Given the description of an element on the screen output the (x, y) to click on. 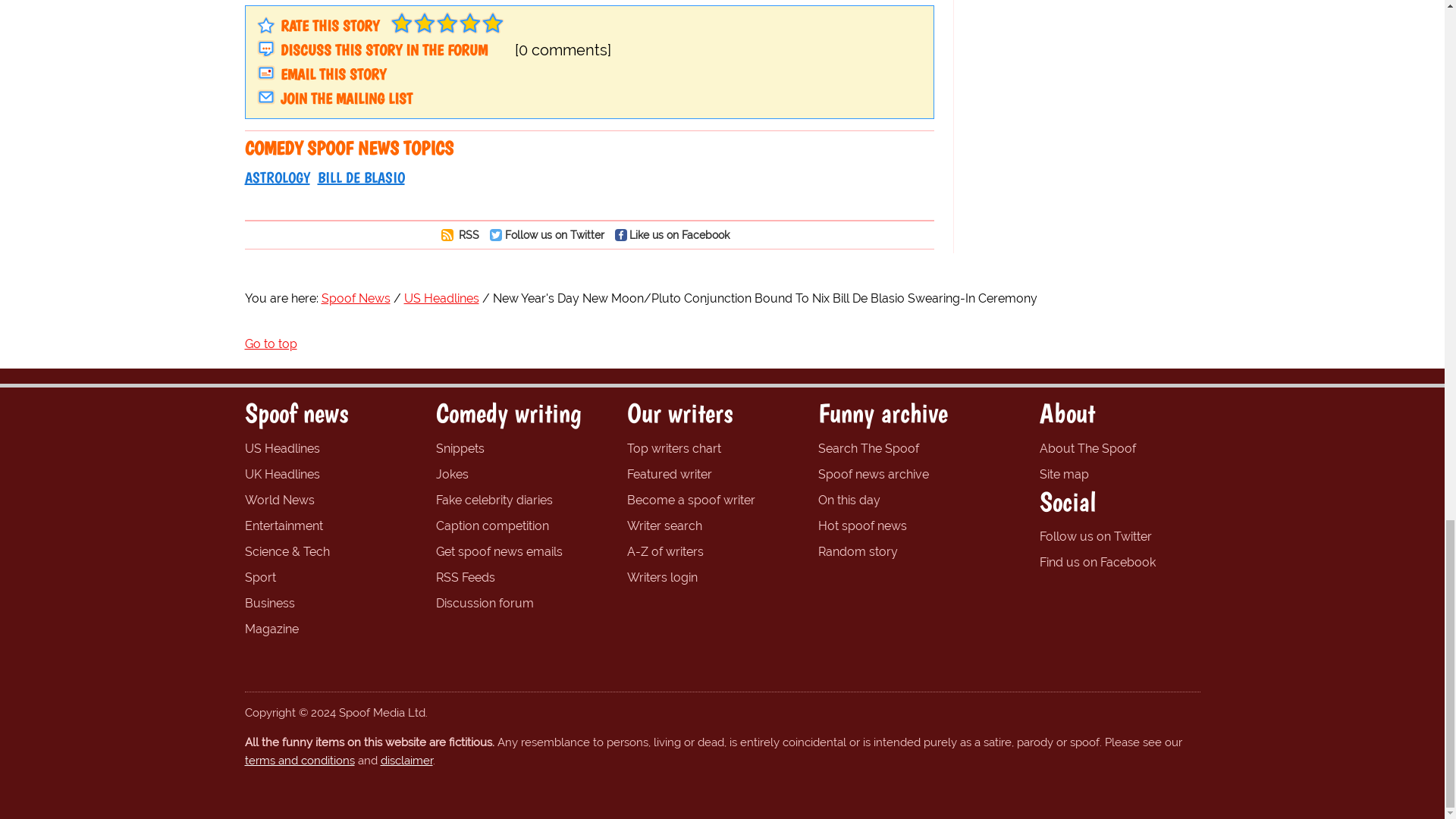
RSS (464, 234)
DISCUSS THIS STORY IN THE FORUM (384, 49)
Follow us on Twitter (550, 234)
Like us on Facebook (676, 234)
View RSS Feed (464, 234)
EMAIL THIS STORY (333, 74)
JOIN THE MAILING LIST (346, 98)
ASTROLOGY (276, 177)
BILL DE BLASIO (360, 177)
